Given the description of an element on the screen output the (x, y) to click on. 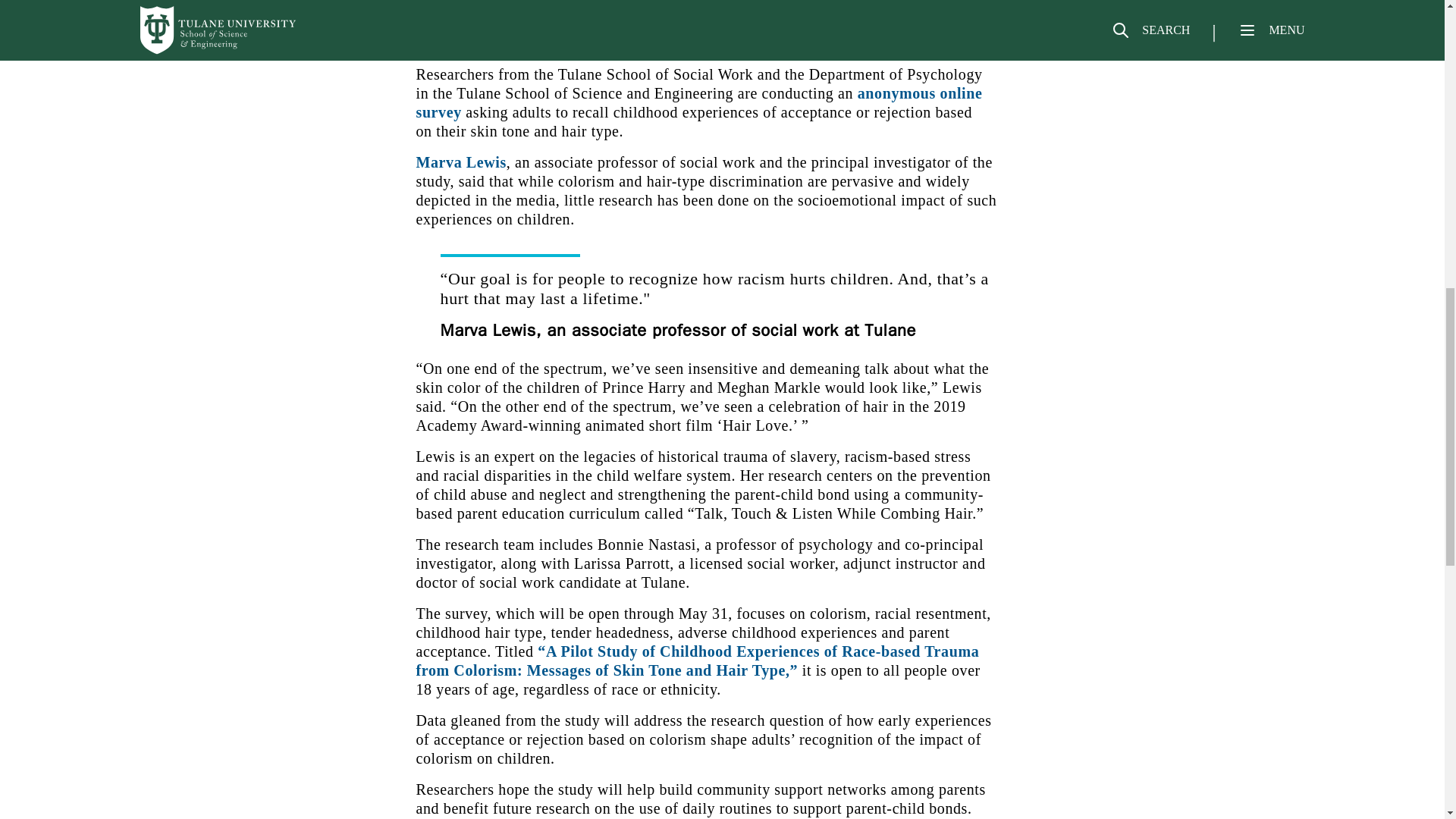
GDPR Privacy Policy (381, 32)
Accept (1265, 24)
Privacy Notice (275, 32)
